Given the description of an element on the screen output the (x, y) to click on. 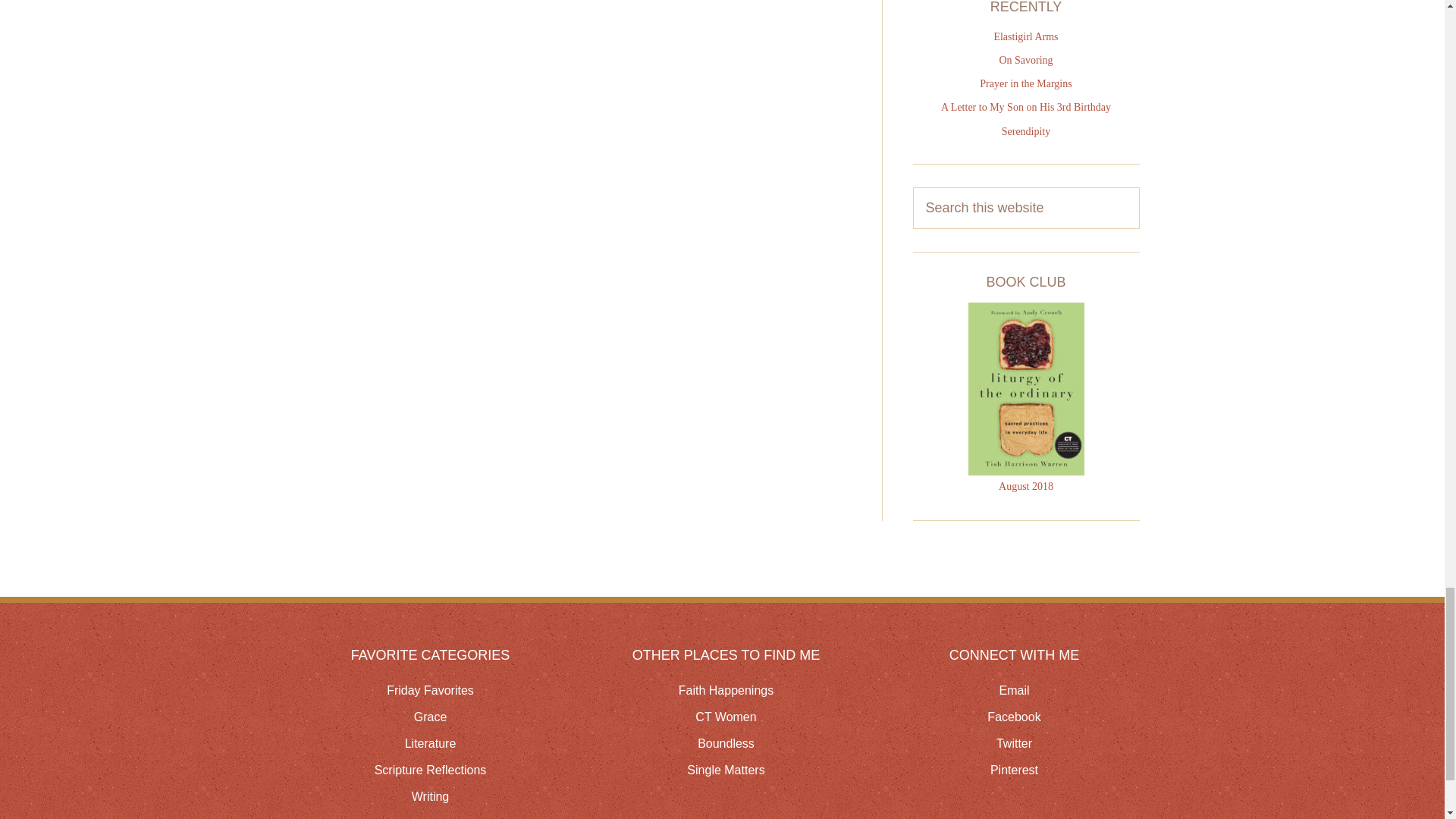
A Letter to My Son on His 3rd Birthday (1025, 107)
Elastigirl Arms (1025, 36)
Serendipity (1026, 131)
On Savoring (1025, 60)
Prayer in the Margins (1025, 83)
